Given the description of an element on the screen output the (x, y) to click on. 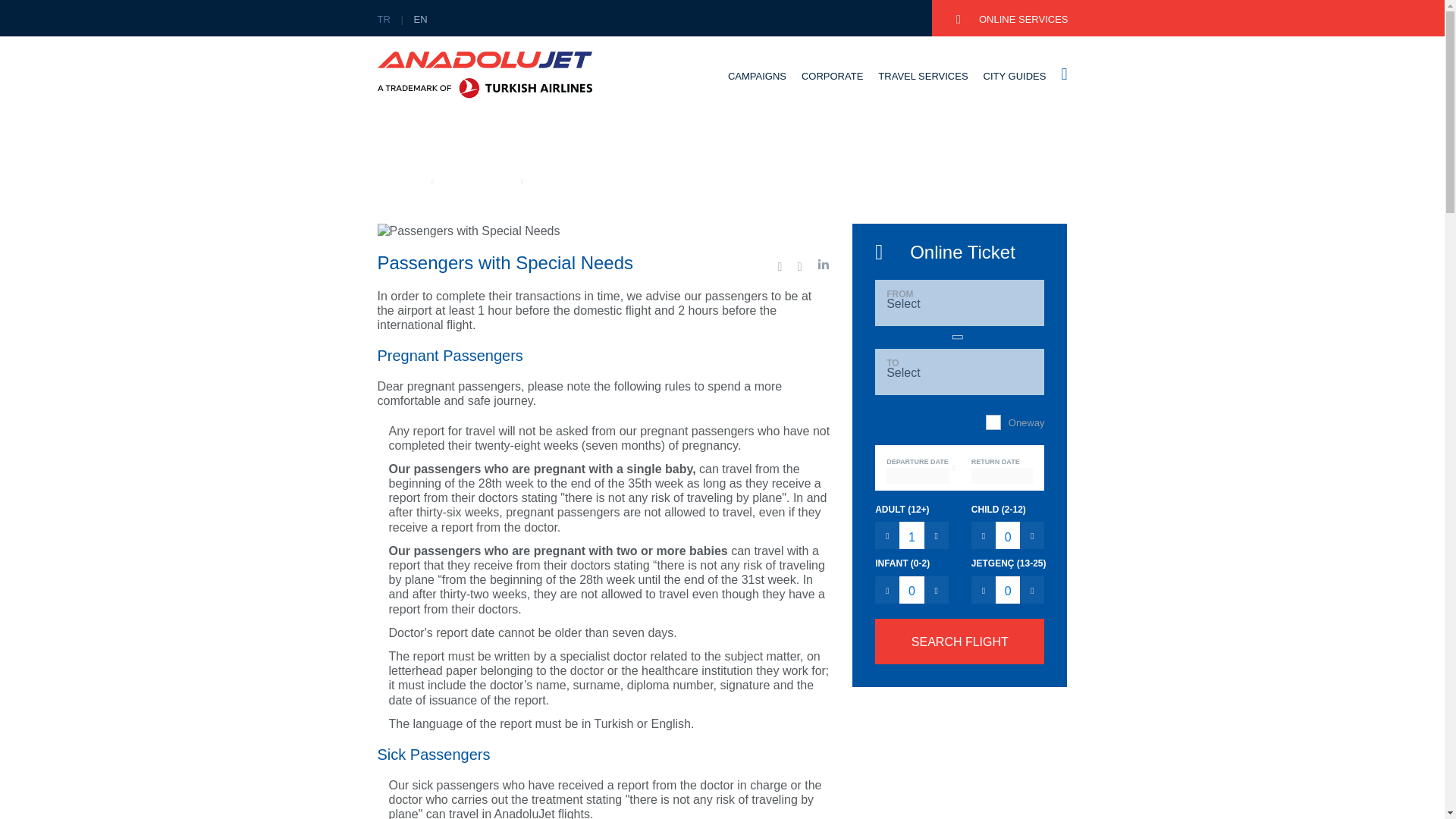
CITY GUIDES (1015, 89)
Home Page (401, 180)
EN (423, 19)
TR (387, 19)
0 (1007, 589)
0 (911, 589)
CAMPAIGNS (757, 89)
CORPORATE (832, 89)
TRAVEL SERVICES (922, 89)
ONLINE SERVICES (1012, 19)
